Given the description of an element on the screen output the (x, y) to click on. 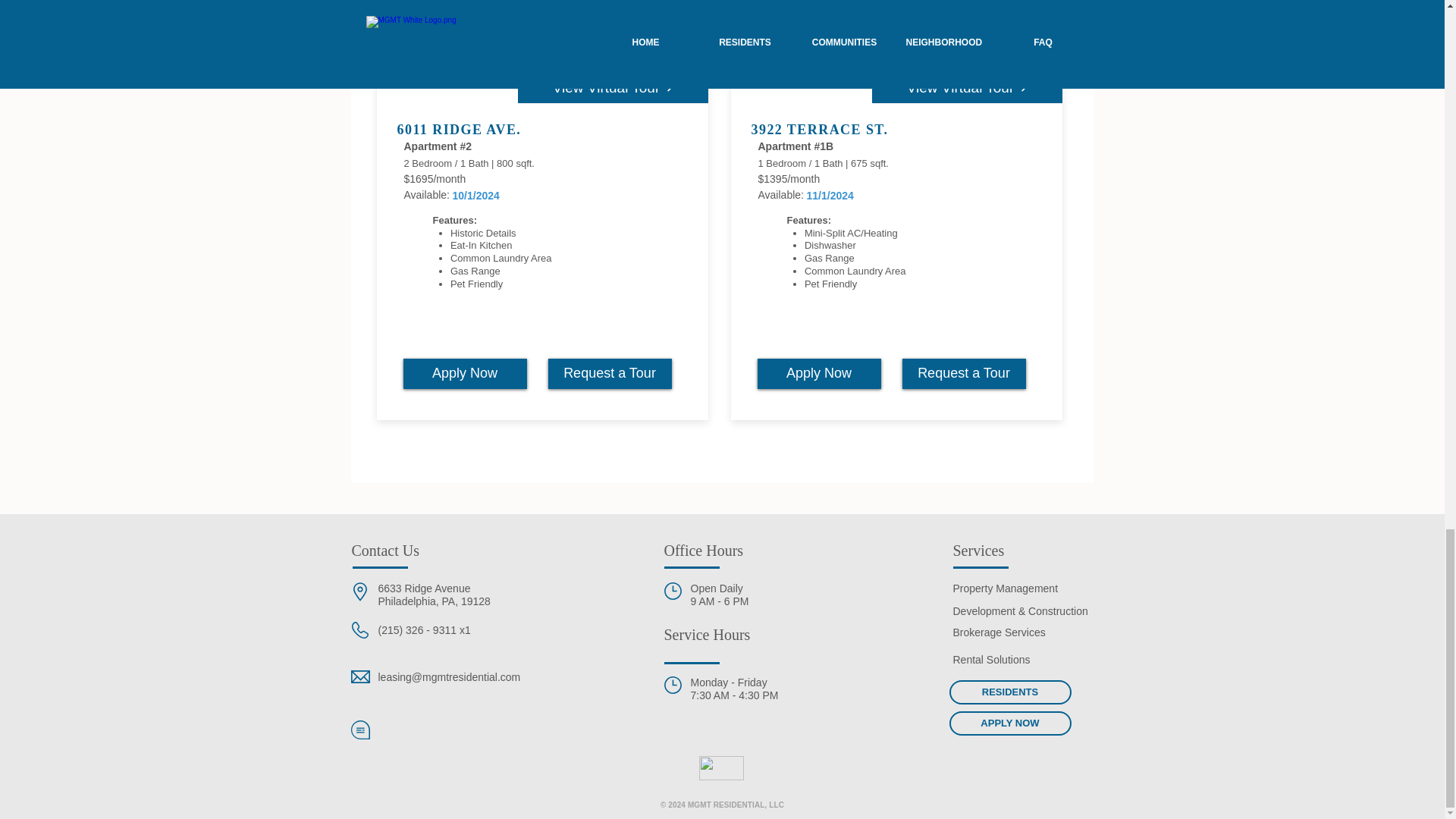
Request a Tour (609, 373)
View Virtual Tour (611, 87)
View Virtual Tour (967, 87)
Apply Now (818, 373)
Request a Tour (964, 373)
Apply Now (465, 373)
